Given the description of an element on the screen output the (x, y) to click on. 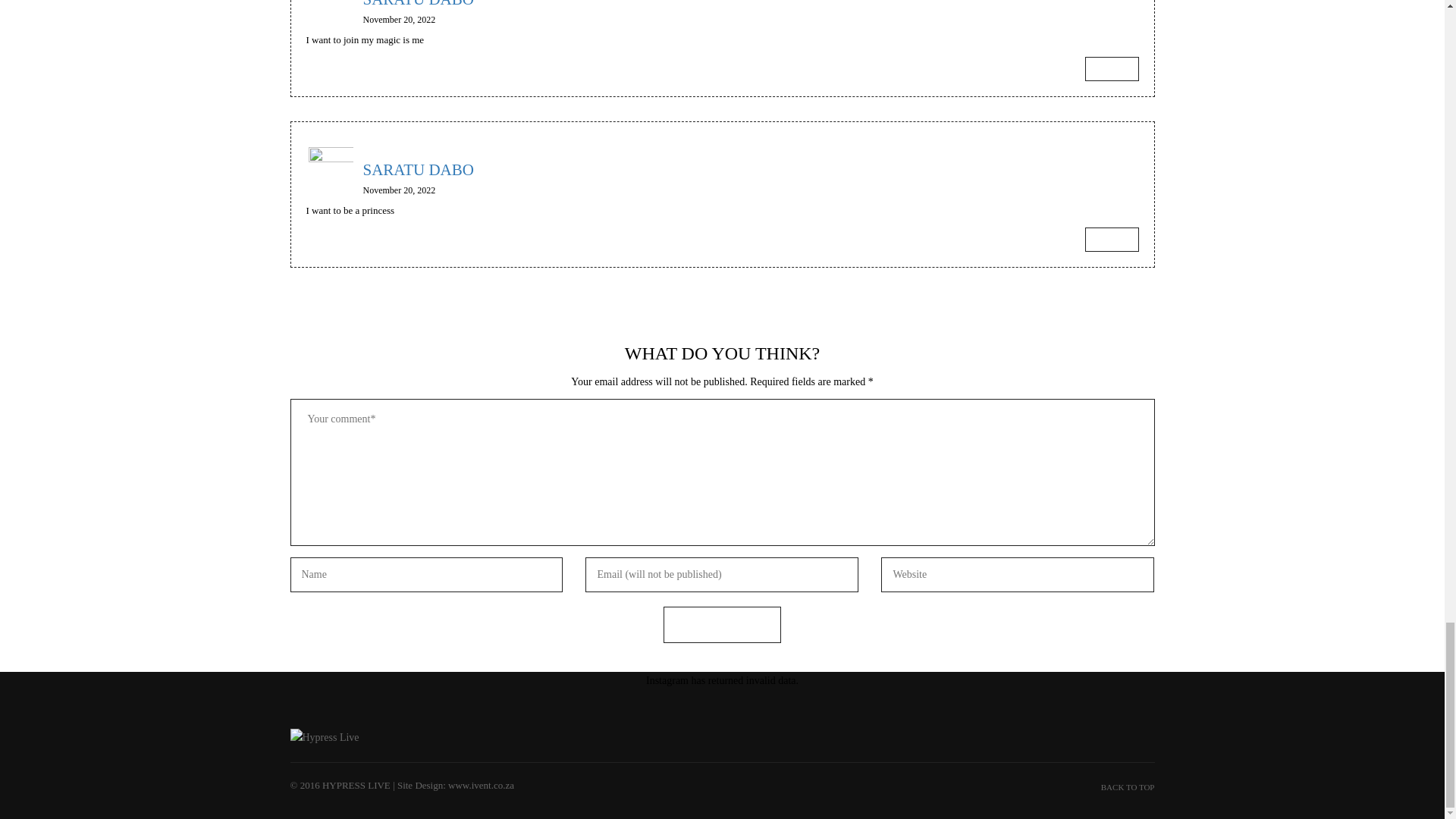
Lifestyle and Culture Destination (323, 737)
Post comment (721, 624)
SARATU DABO (750, 166)
REPLY (1111, 68)
REPLY (1111, 239)
Post comment (721, 624)
